Given the description of an element on the screen output the (x, y) to click on. 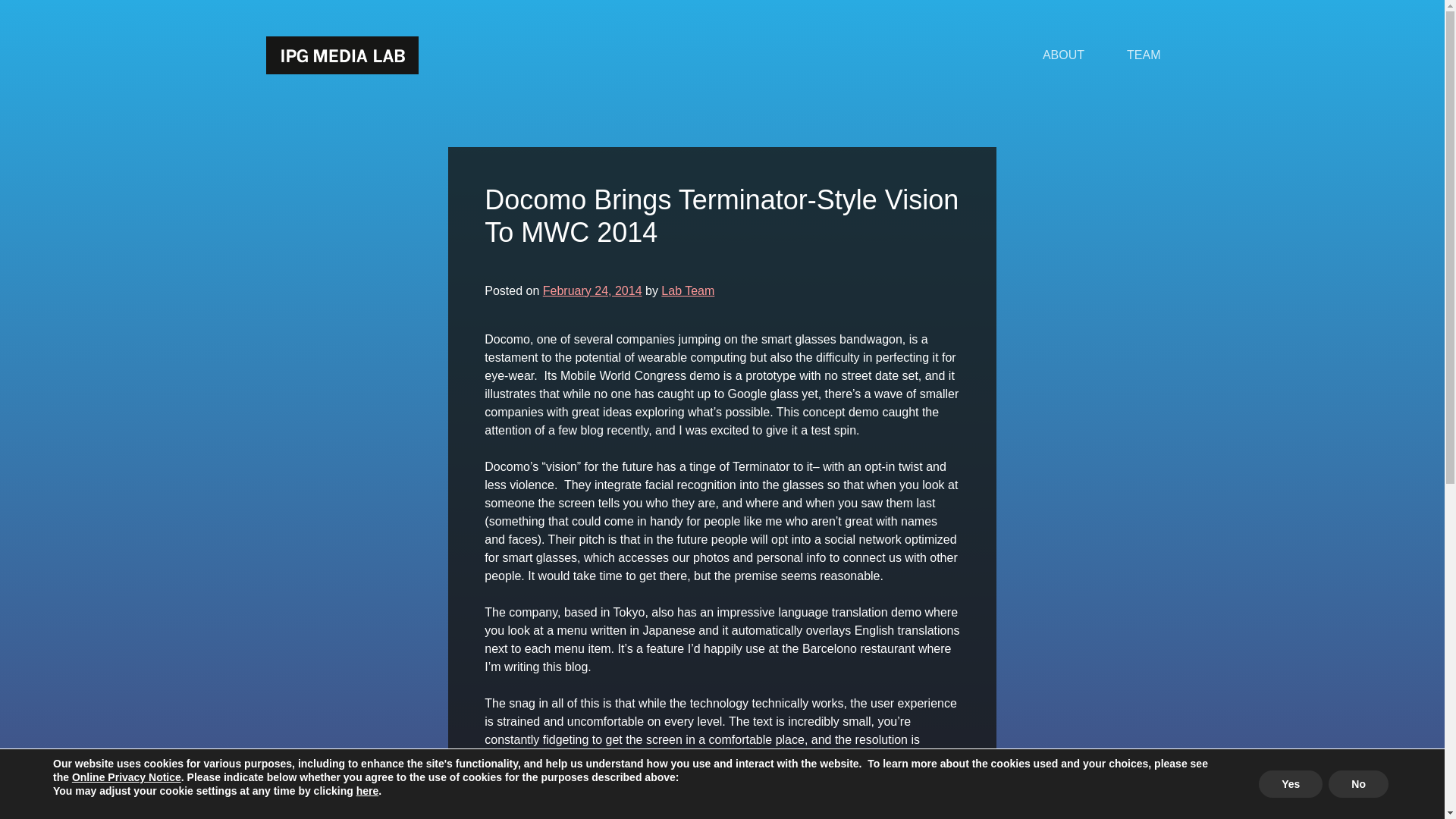
IPG Media Lab (340, 55)
docomo (538, 812)
Mobile World Congress (705, 812)
Online Privacy Notice (125, 776)
google glass (600, 812)
Lab Team (687, 290)
No (1358, 783)
ABOUT (1063, 55)
mobile world congress 2014 (849, 812)
Yes (1290, 783)
February 24, 2014 (592, 290)
smat glasses (721, 812)
TEAM (1142, 55)
